Given the description of an element on the screen output the (x, y) to click on. 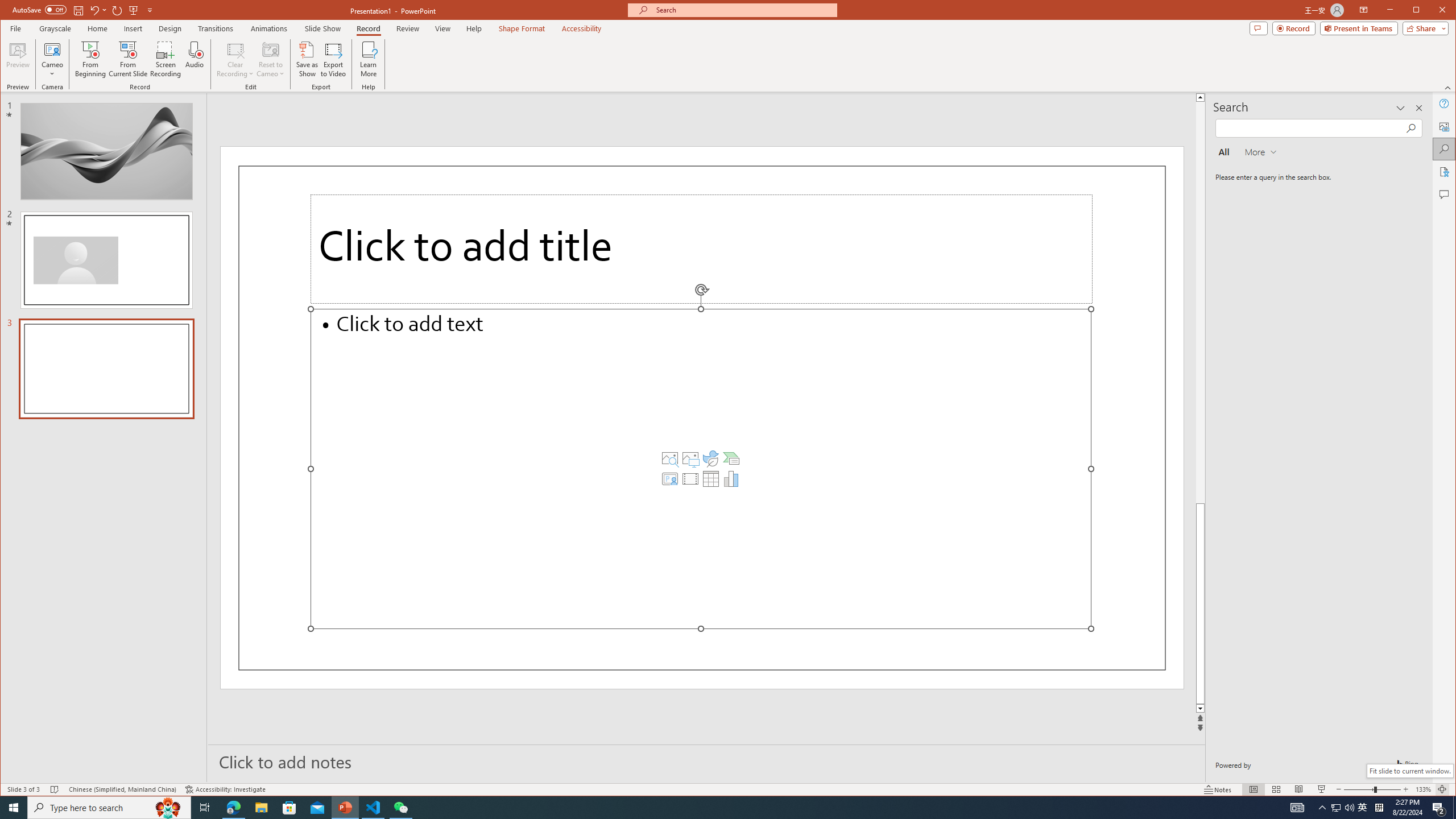
Content Placeholder (700, 468)
